Given the description of an element on the screen output the (x, y) to click on. 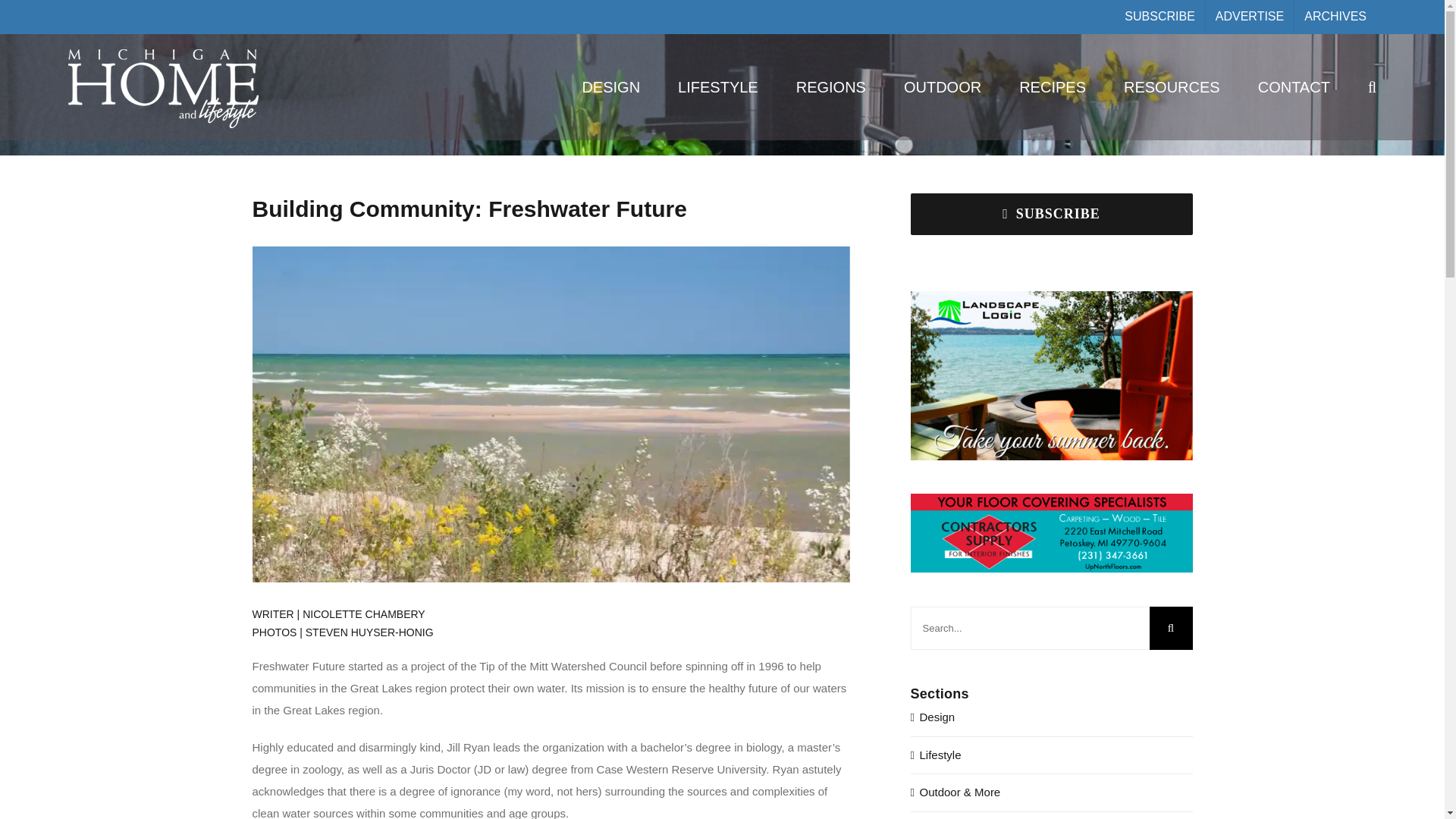
RESOURCES (1172, 86)
ARCHIVES (1334, 16)
ADVERTISE (1249, 16)
SUBSCRIBE (1159, 16)
